Given the description of an element on the screen output the (x, y) to click on. 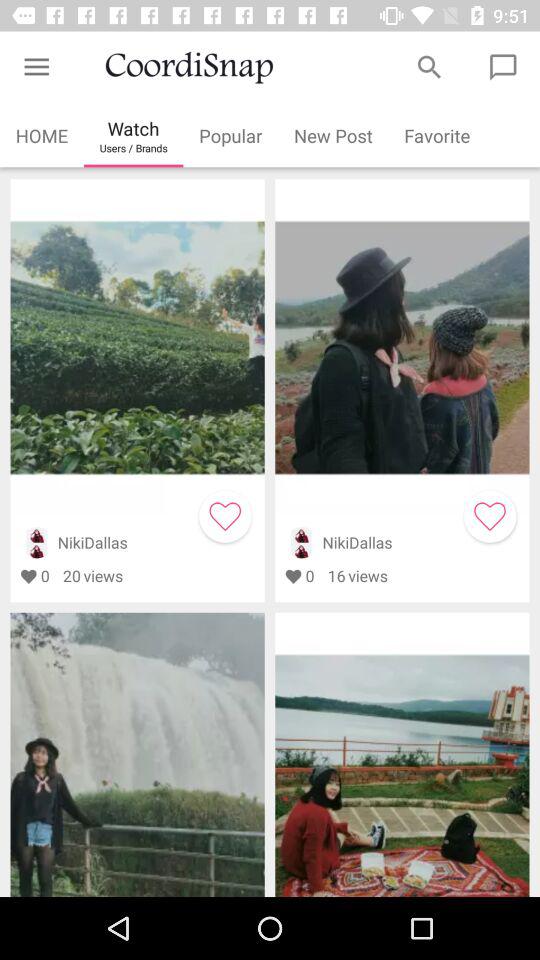
like post (489, 516)
